Given the description of an element on the screen output the (x, y) to click on. 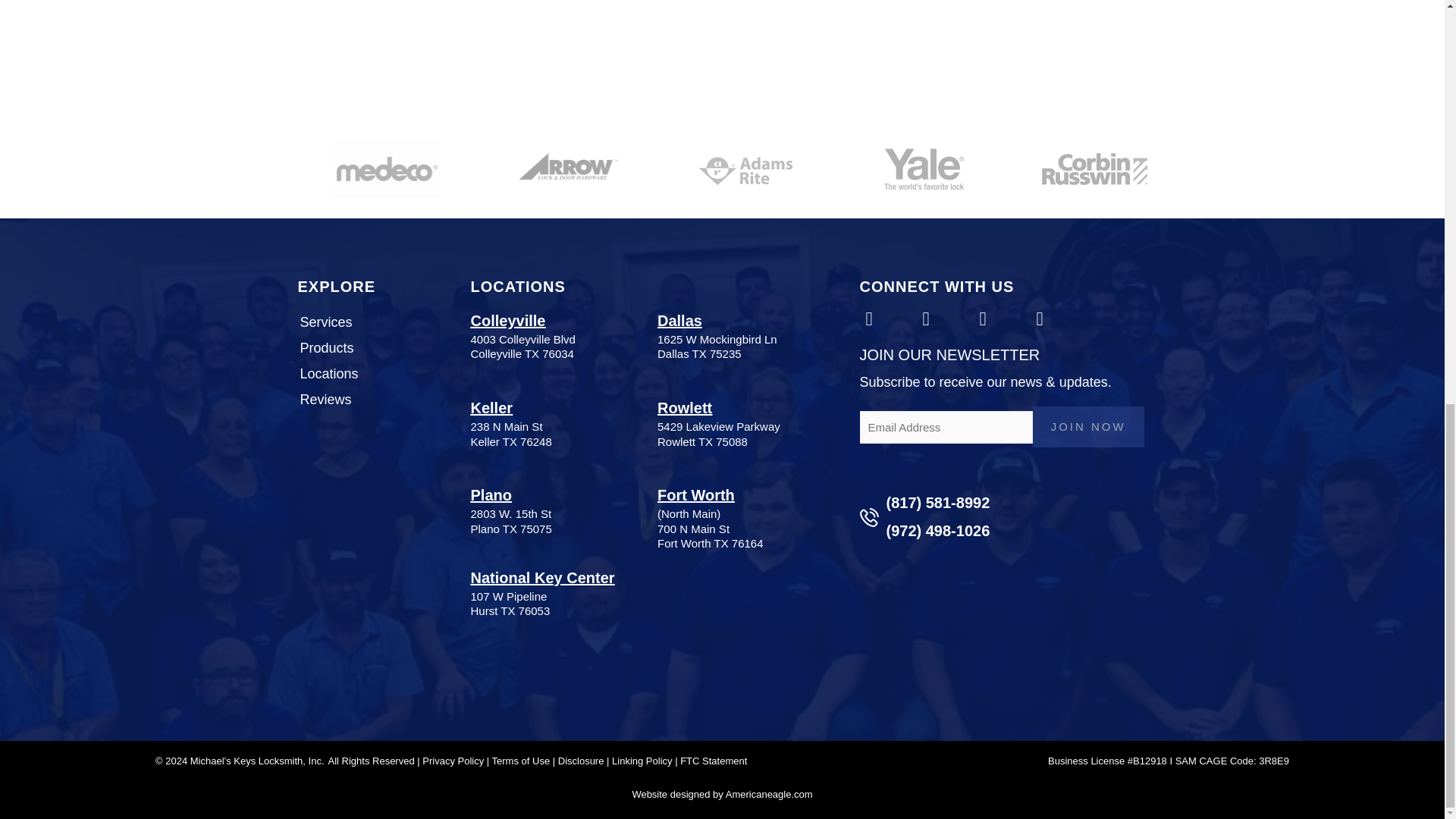
Join Now (1088, 426)
